Given the description of an element on the screen output the (x, y) to click on. 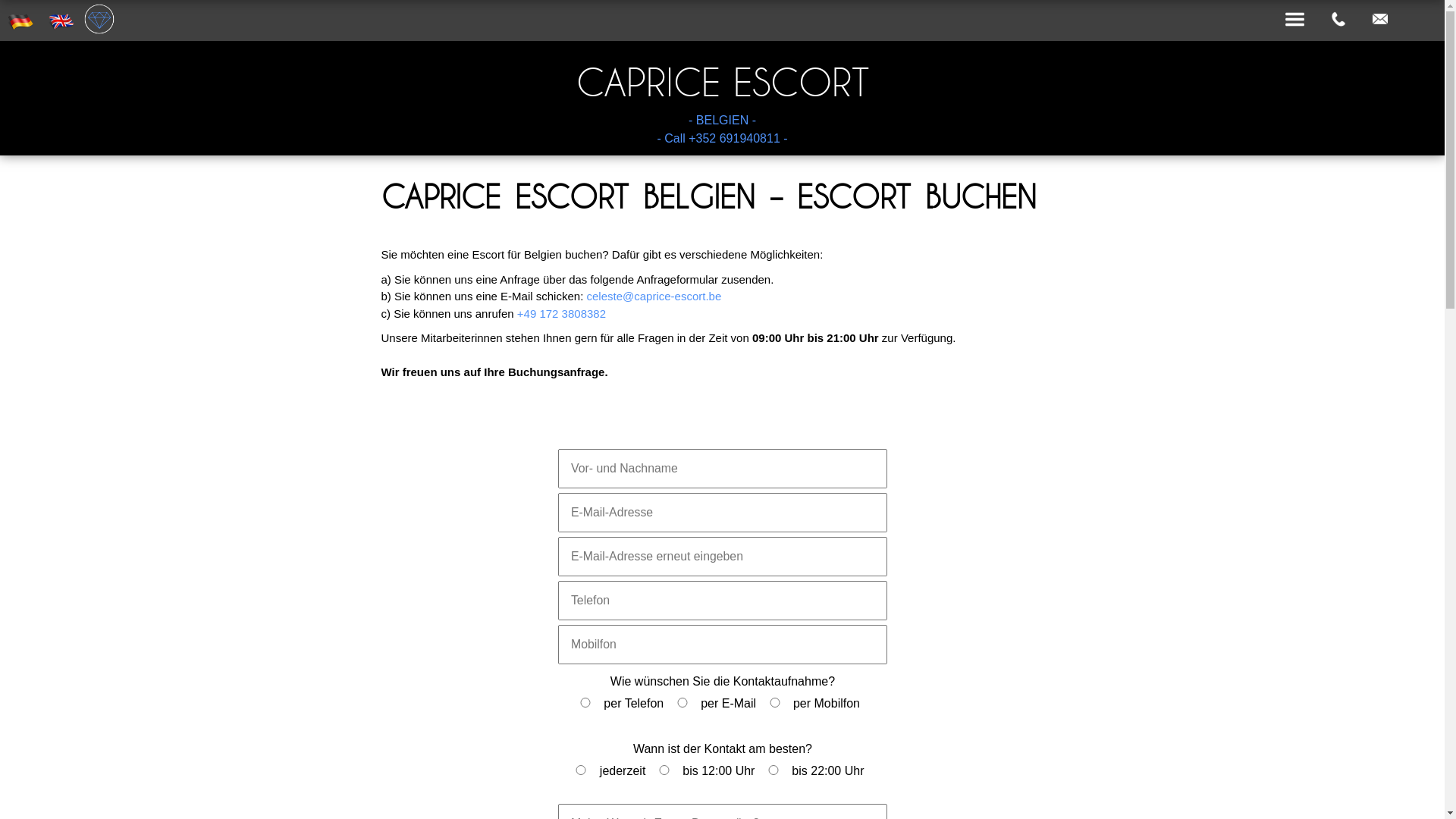
Seite auf Deutsch Element type: hover (20, 20)
Caprice Escort in English Element type: hover (61, 20)
- Call +352 691940811 - Element type: text (721, 138)
celeste@caprice-escort.be Element type: text (653, 295)
Telefonnummer Caprice Escort Element type: hover (1338, 19)
Telefonnummer Element type: hover (1338, 18)
- BELGIEN - Element type: text (722, 120)
CAPRICE ESCORT Element type: text (722, 82)
Menu Caprice Escort Element type: hover (1294, 19)
E-Mail-Adresse Element type: hover (1379, 18)
Caprice Escort Belgien - Caprice Escort Gruppe Element type: hover (99, 18)
E-Mail-Adresse Caprice Escort Belgien Element type: hover (1380, 19)
+49 172 3808382 Element type: text (561, 312)
